Given the description of an element on the screen output the (x, y) to click on. 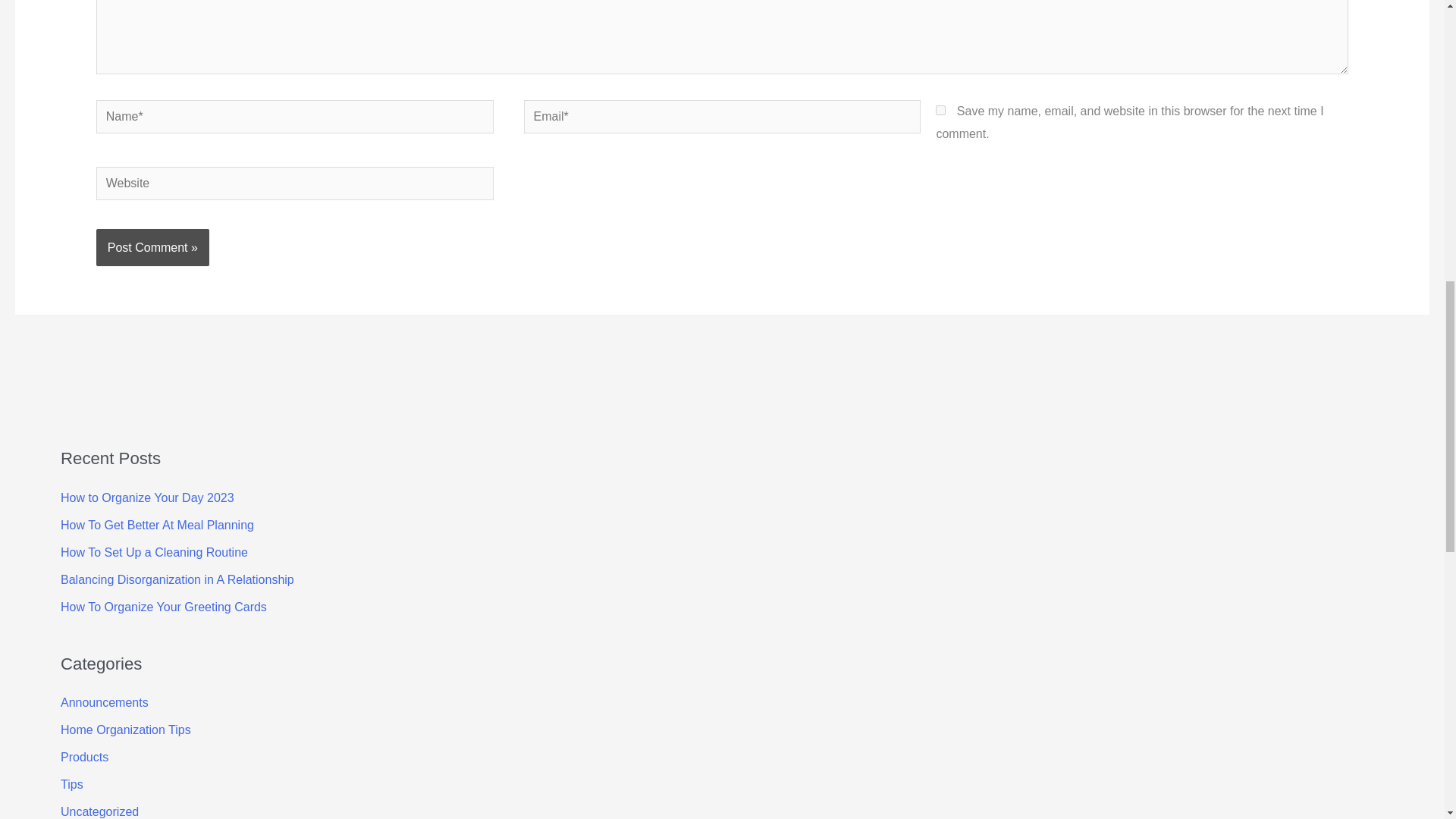
yes (940, 110)
